Given the description of an element on the screen output the (x, y) to click on. 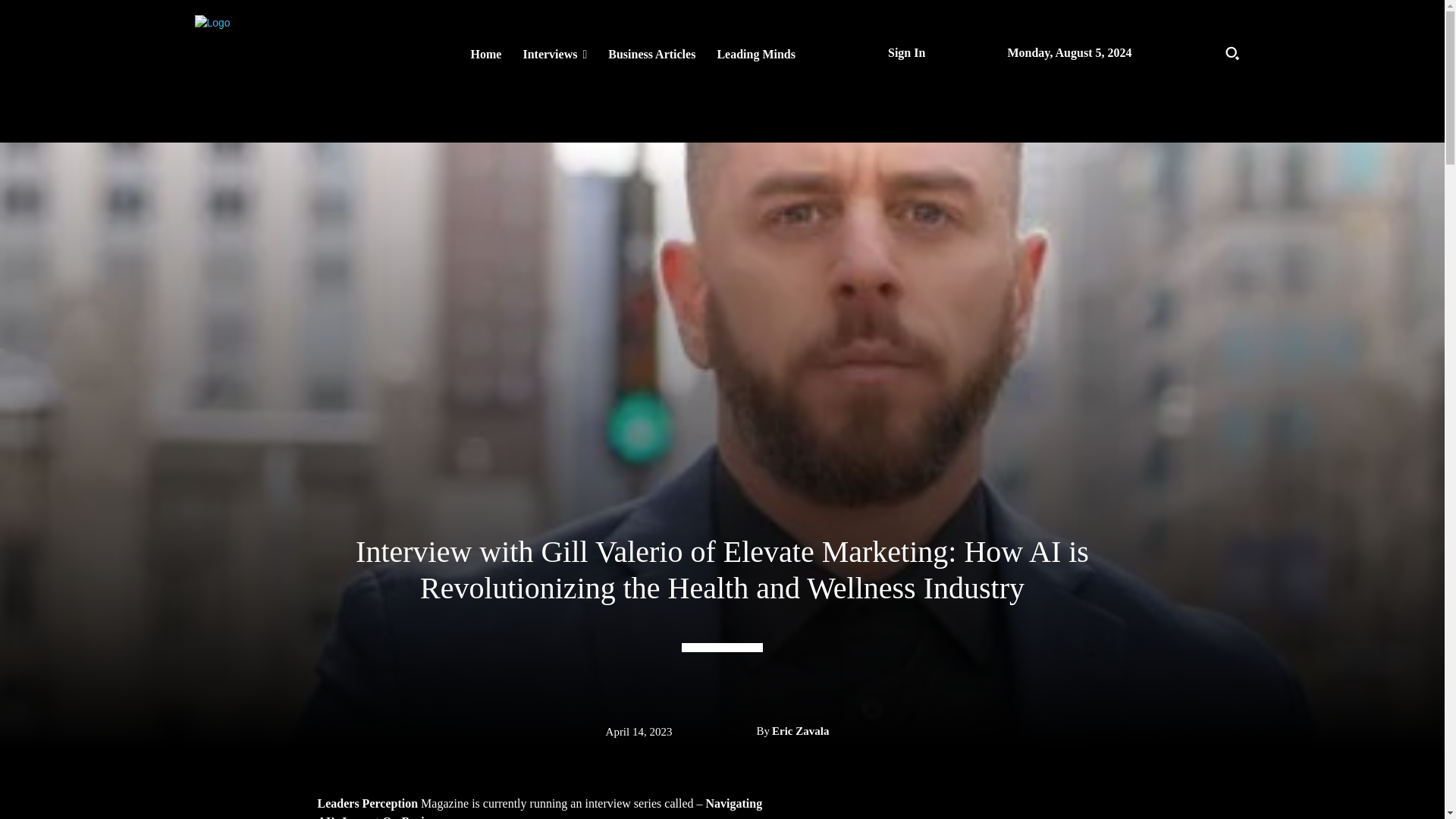
Sign In (906, 52)
Eric Zavala (799, 730)
Interviews (554, 53)
Leading Minds (756, 53)
Business Articles (651, 53)
Home (486, 53)
